Given the description of an element on the screen output the (x, y) to click on. 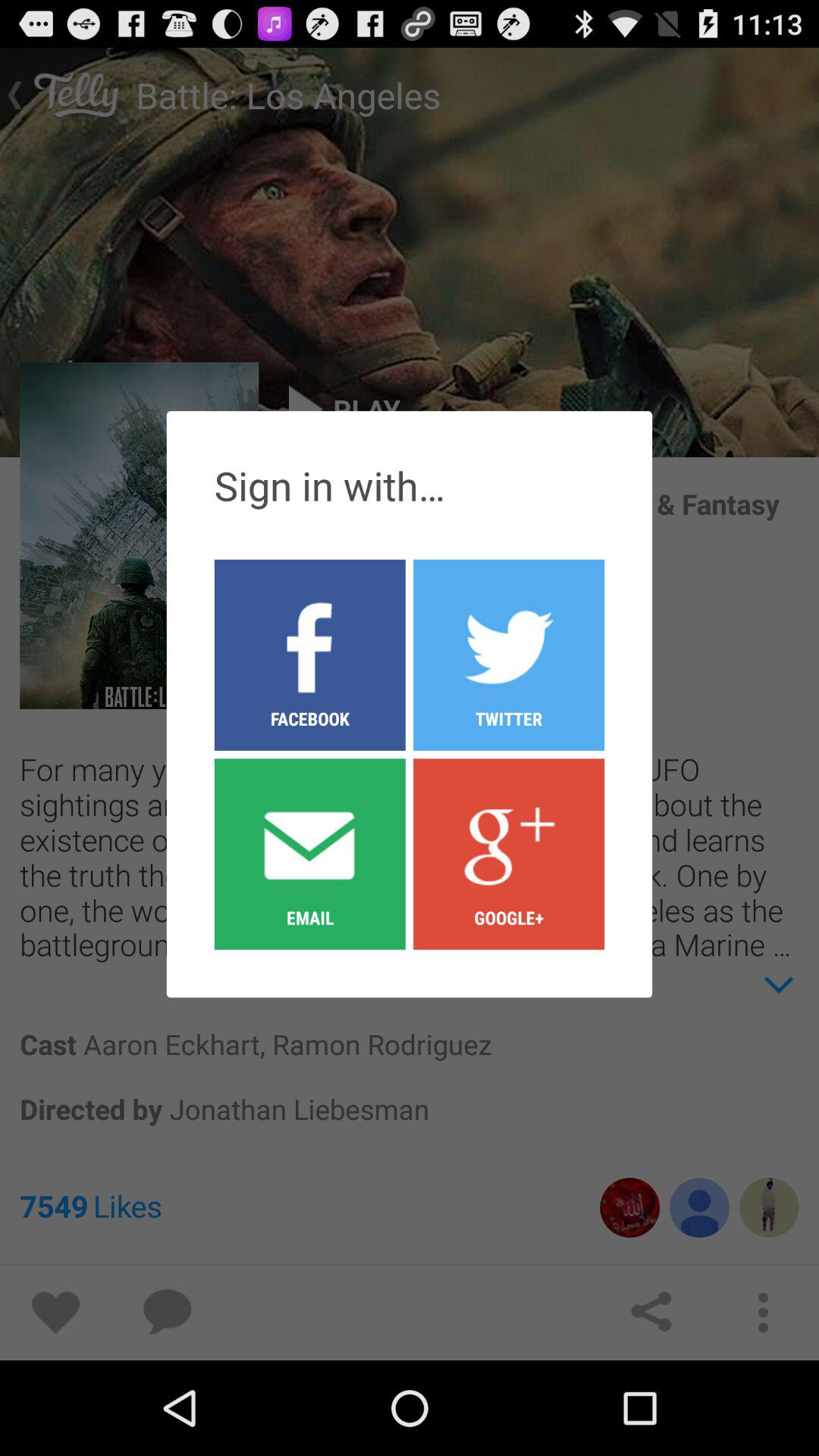
select google+ icon (508, 853)
